Given the description of an element on the screen output the (x, y) to click on. 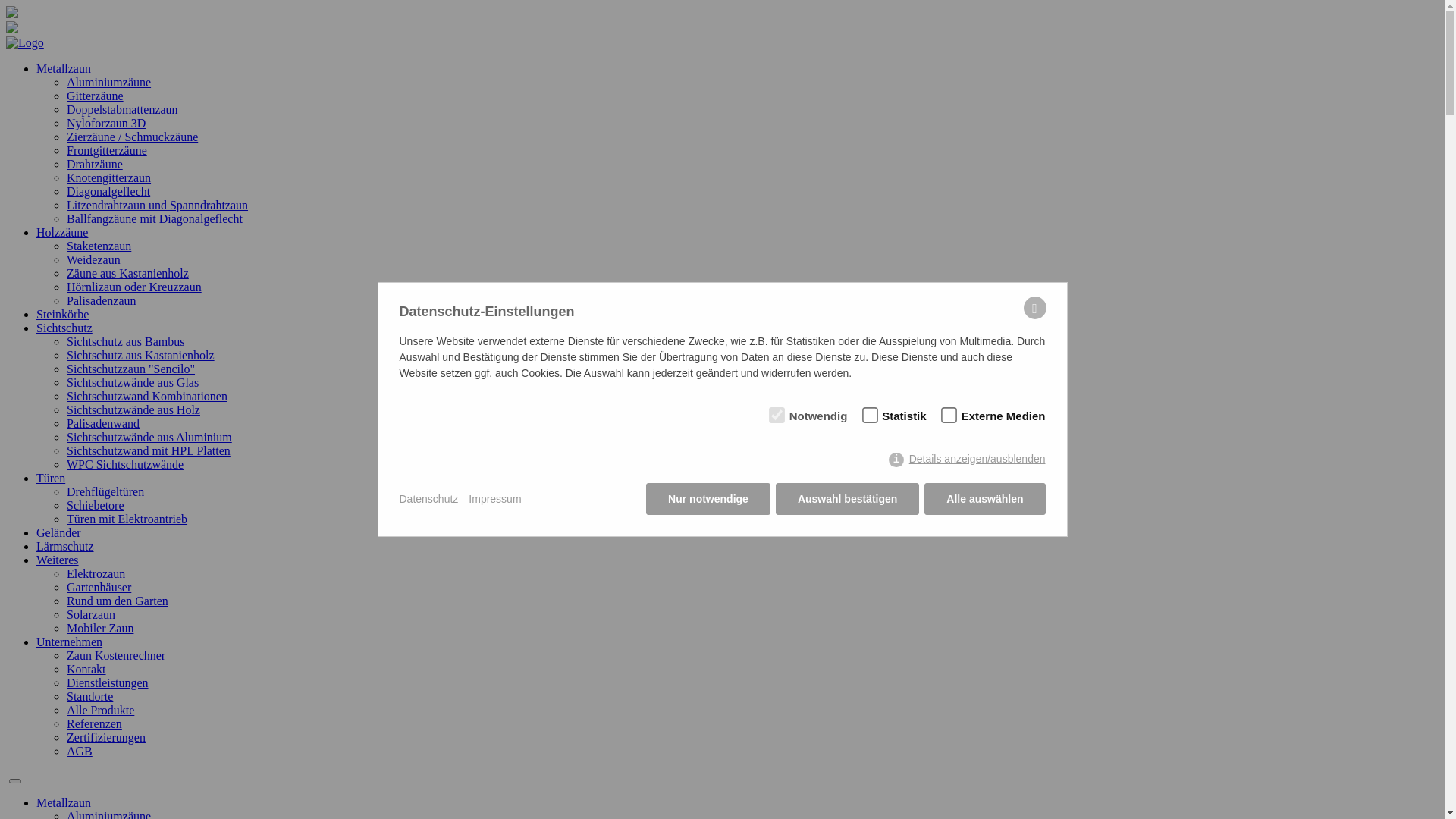
Unternehmen Element type: text (69, 641)
Impressum Element type: text (494, 499)
Litzendrahtzaun und Spanndrahtzaun Element type: text (156, 204)
Sichtschutzzaun "Sencilo" Element type: text (130, 368)
Metallzaun Element type: text (63, 68)
Rund um den Garten Element type: text (117, 600)
Referenzen Element type: text (94, 723)
Standorte Element type: text (89, 696)
Zertifizierungen Element type: text (105, 737)
Staketenzaun Element type: text (98, 245)
Sichtschutzwand Kombinationen Element type: text (146, 395)
Details anzeigen/ausblenden Element type: text (966, 459)
Datenschutz Element type: text (428, 499)
AGB Element type: text (79, 750)
Palisadenwand Element type: text (102, 423)
Nur notwendige Element type: text (708, 498)
Sichtschutz aus Kastanienholz Element type: text (140, 354)
Sichtschutz aus Bambus Element type: text (125, 341)
Alle Produkte Element type: text (100, 709)
Zaun Kostenrechner Element type: text (115, 655)
Solarzaun Element type: text (90, 614)
Diagonalgeflecht Element type: text (108, 191)
Metallzaun Element type: text (63, 802)
Sichtschutz Element type: text (64, 327)
Knotengitterzaun Element type: text (108, 177)
Kontakt Element type: text (86, 668)
Dienstleistungen Element type: text (107, 682)
Nyloforzaun 3D Element type: text (105, 122)
Schiebetore Element type: text (95, 504)
Weidezaun Element type: text (93, 259)
Doppelstabmattenzaun Element type: text (122, 109)
Elektrozaun Element type: text (95, 573)
Palisadenzaun Element type: text (101, 300)
Weiteres Element type: text (57, 559)
Sichtschutzwand mit HPL Platten Element type: text (148, 450)
Mobiler Zaun Element type: text (99, 627)
